Given the description of an element on the screen output the (x, y) to click on. 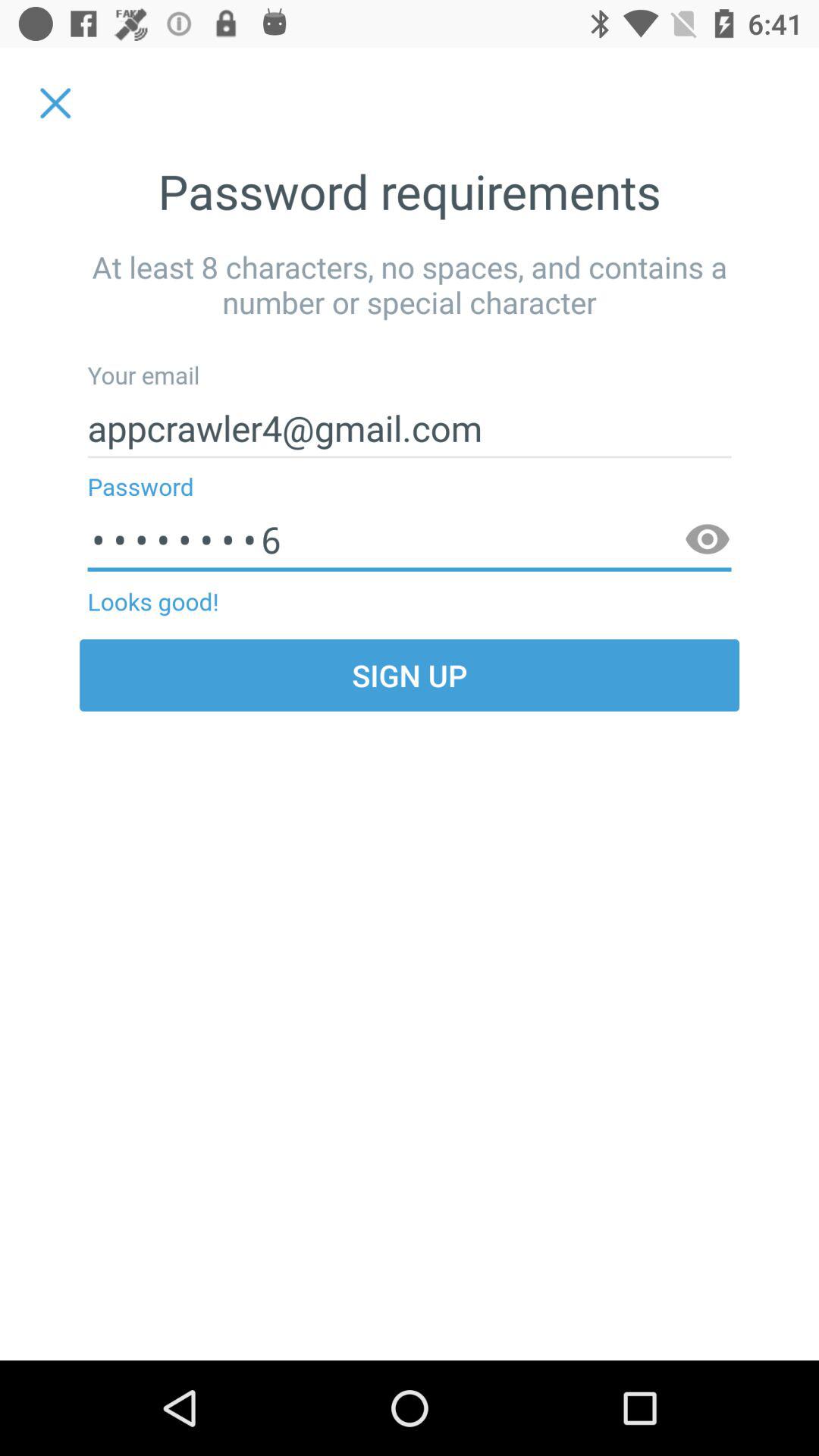
open item above at least 8 item (55, 103)
